Given the description of an element on the screen output the (x, y) to click on. 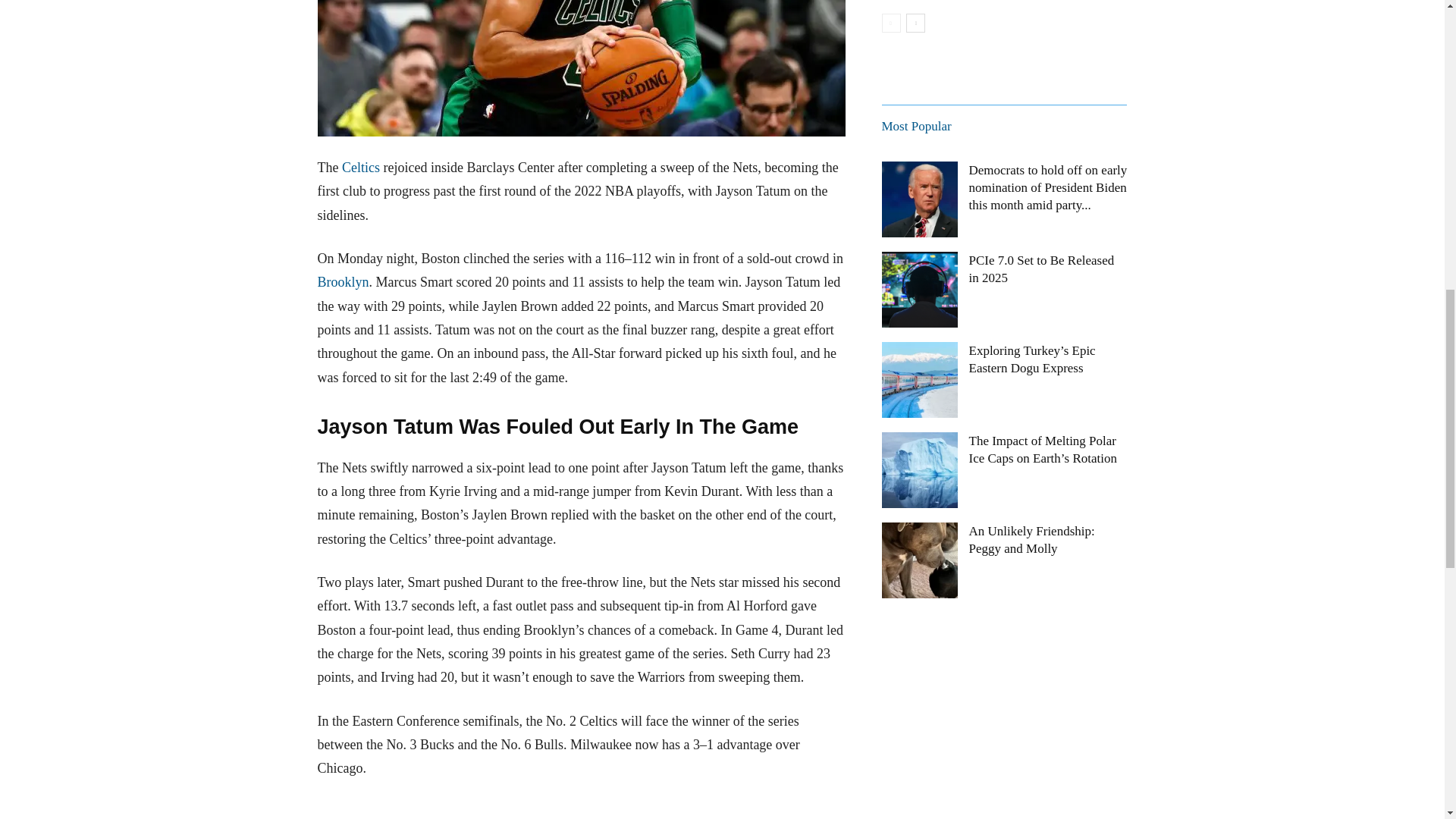
Jayson Tatum (580, 68)
Brooklyn (342, 281)
Celtics (361, 167)
